Given the description of an element on the screen output the (x, y) to click on. 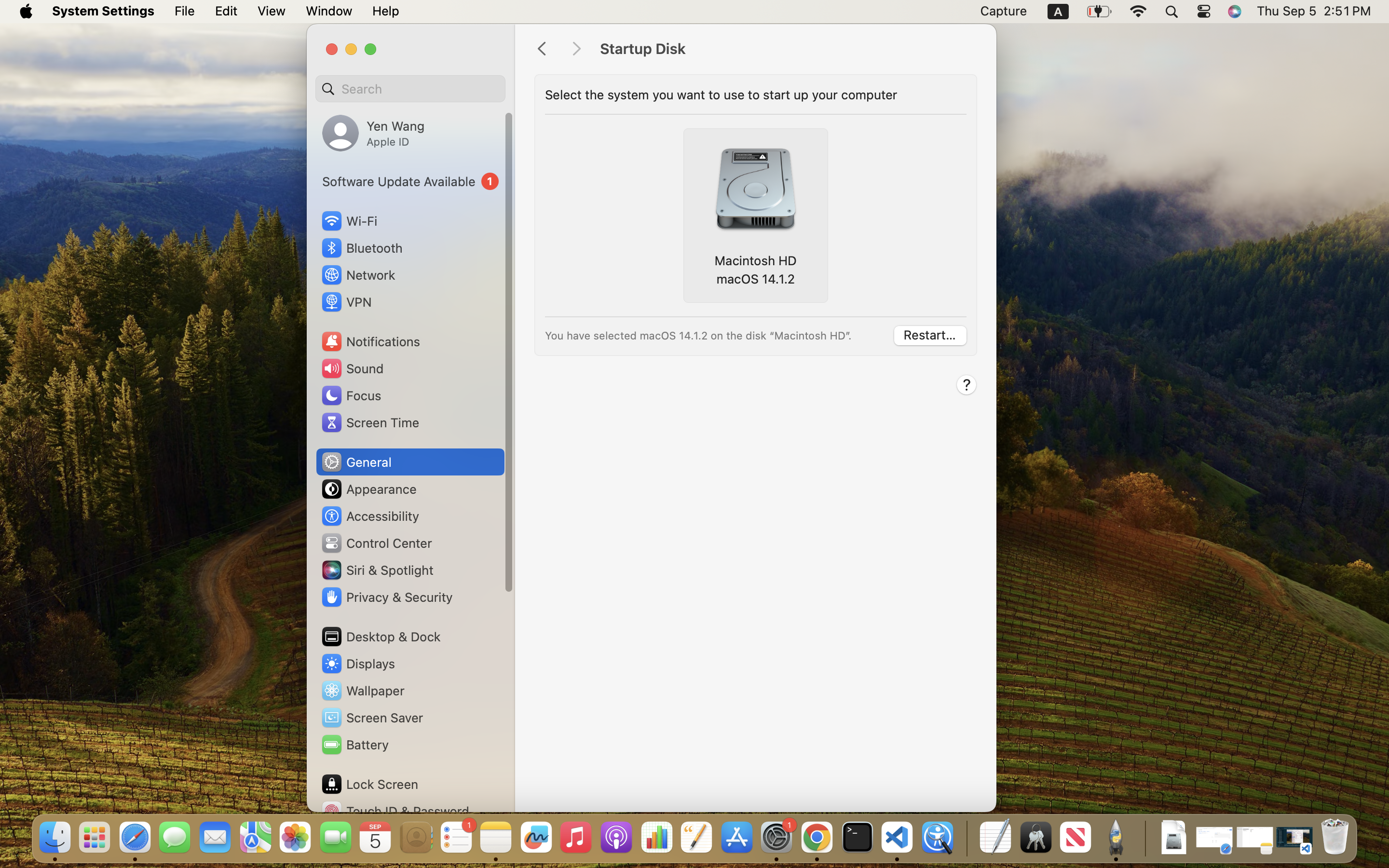
You have selected macOS 14.1.2 on the disk “Macintosh HD”. Element type: AXStaticText (715, 335)
Appearance Element type: AXStaticText (368, 488)
Wi‑Fi Element type: AXStaticText (348, 220)
macOS 14.1.2 Element type: AXStaticText (755, 278)
Select the system you want to use to start up your computer Element type: AXStaticText (751, 94)
